Given the description of an element on the screen output the (x, y) to click on. 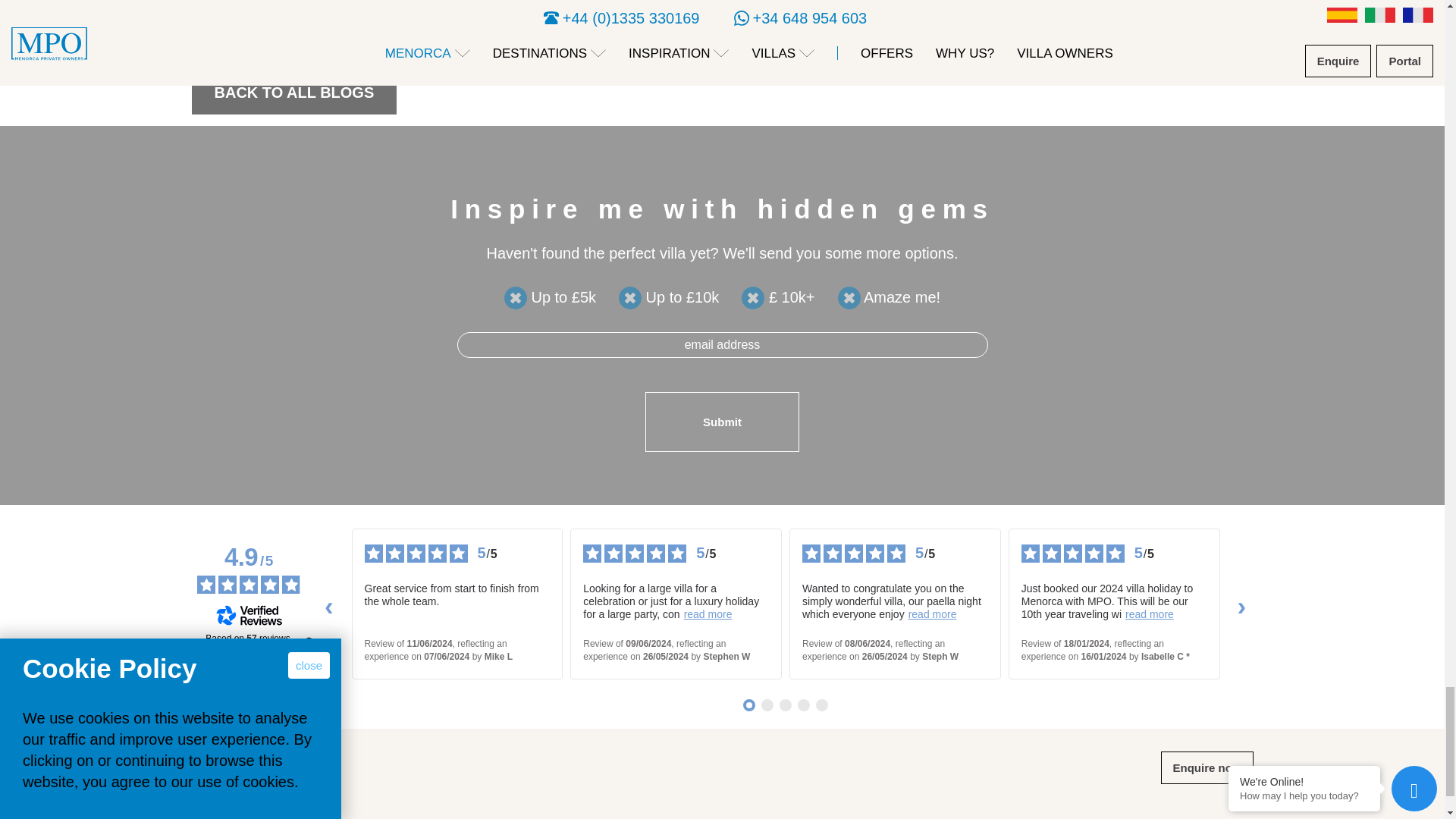
4 (849, 297)
1 (515, 297)
3 (752, 297)
2 (630, 297)
